Given the description of an element on the screen output the (x, y) to click on. 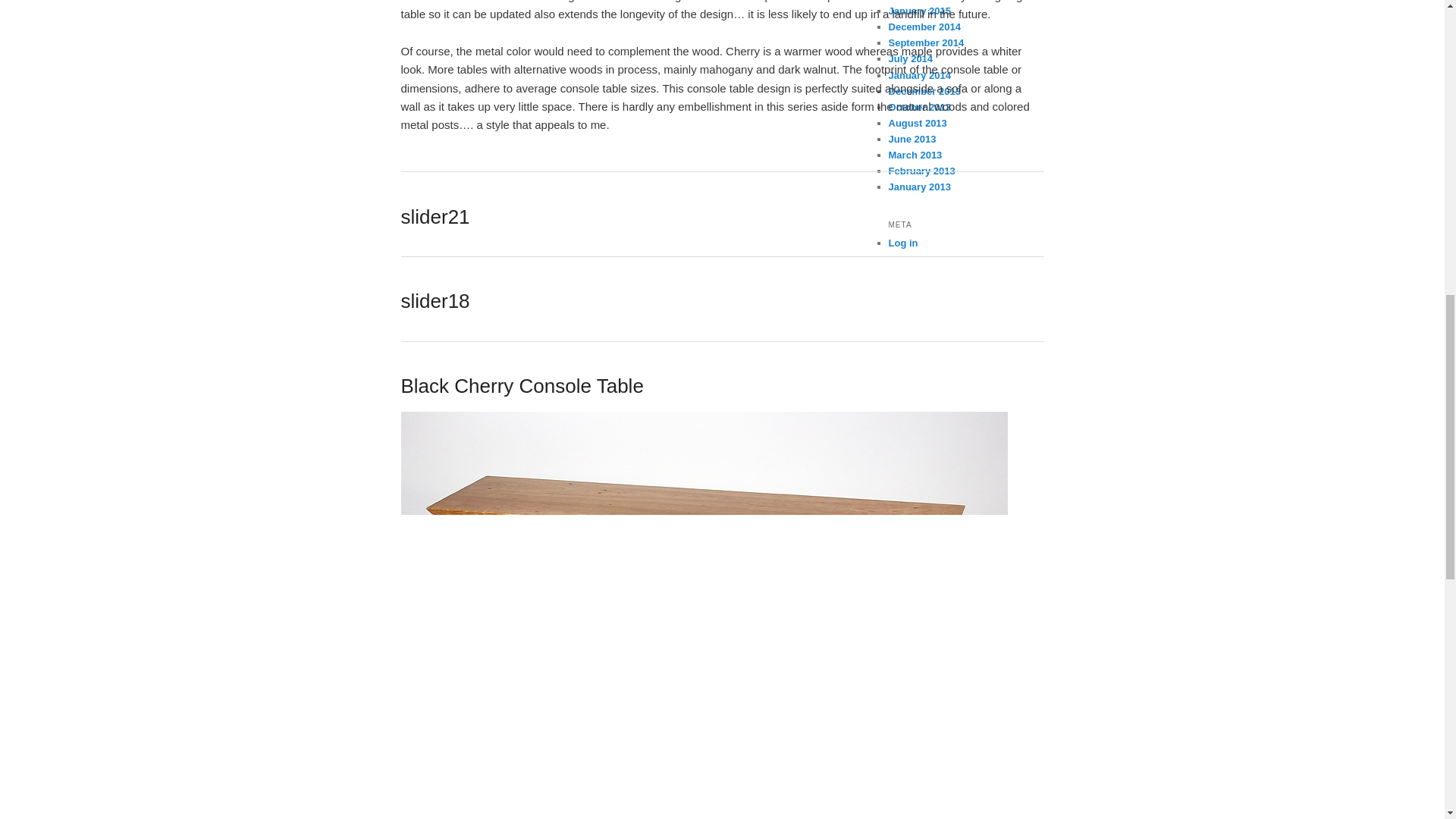
slider18 (434, 300)
Black Cherry Console Table (521, 385)
slider21 (434, 216)
Permalink to slider18 (434, 300)
Permalink to Black Cherry Console Table (521, 385)
Permalink to slider21 (434, 216)
